Given the description of an element on the screen output the (x, y) to click on. 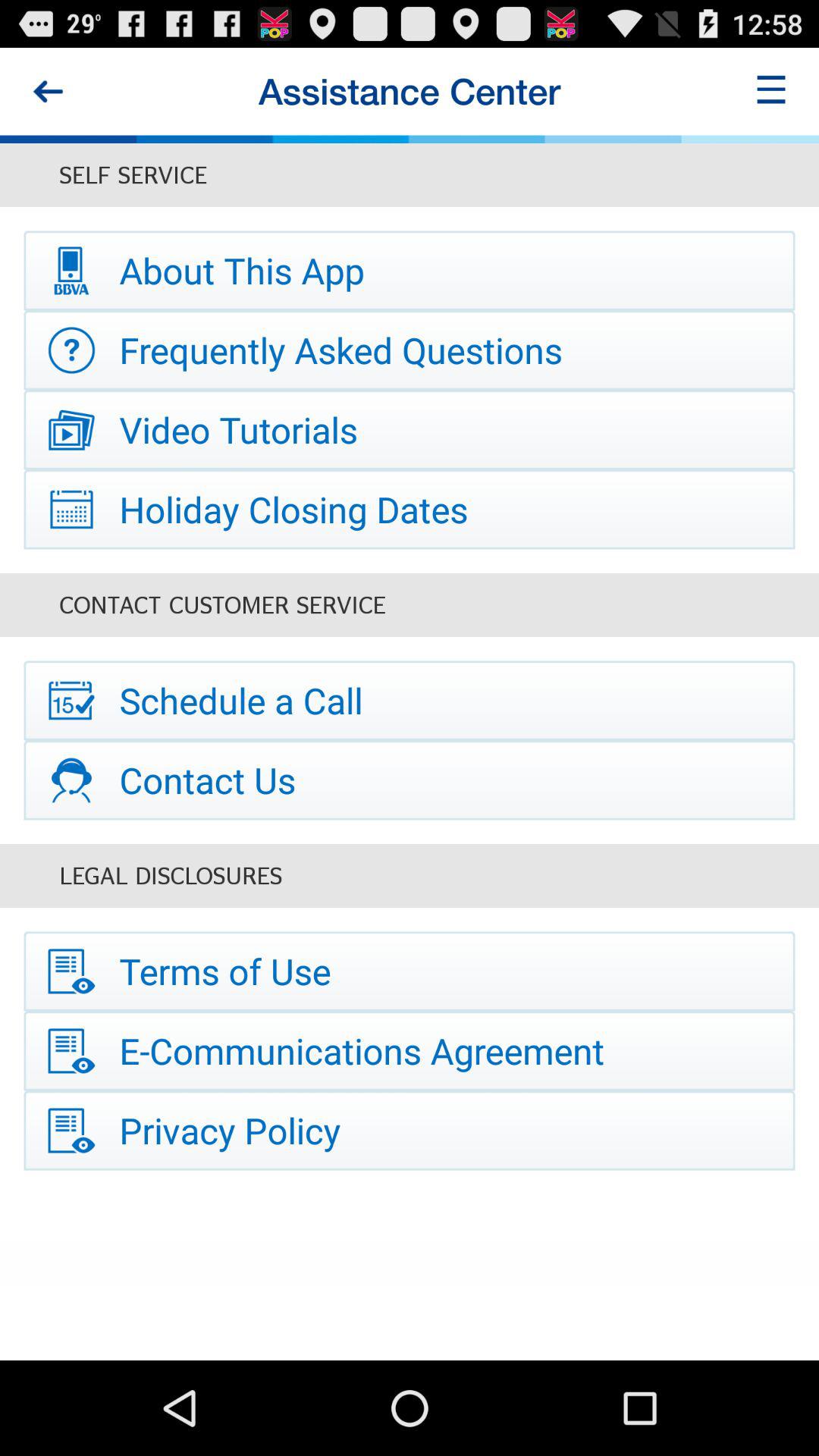
click item above legal disclosures item (409, 780)
